Given the description of an element on the screen output the (x, y) to click on. 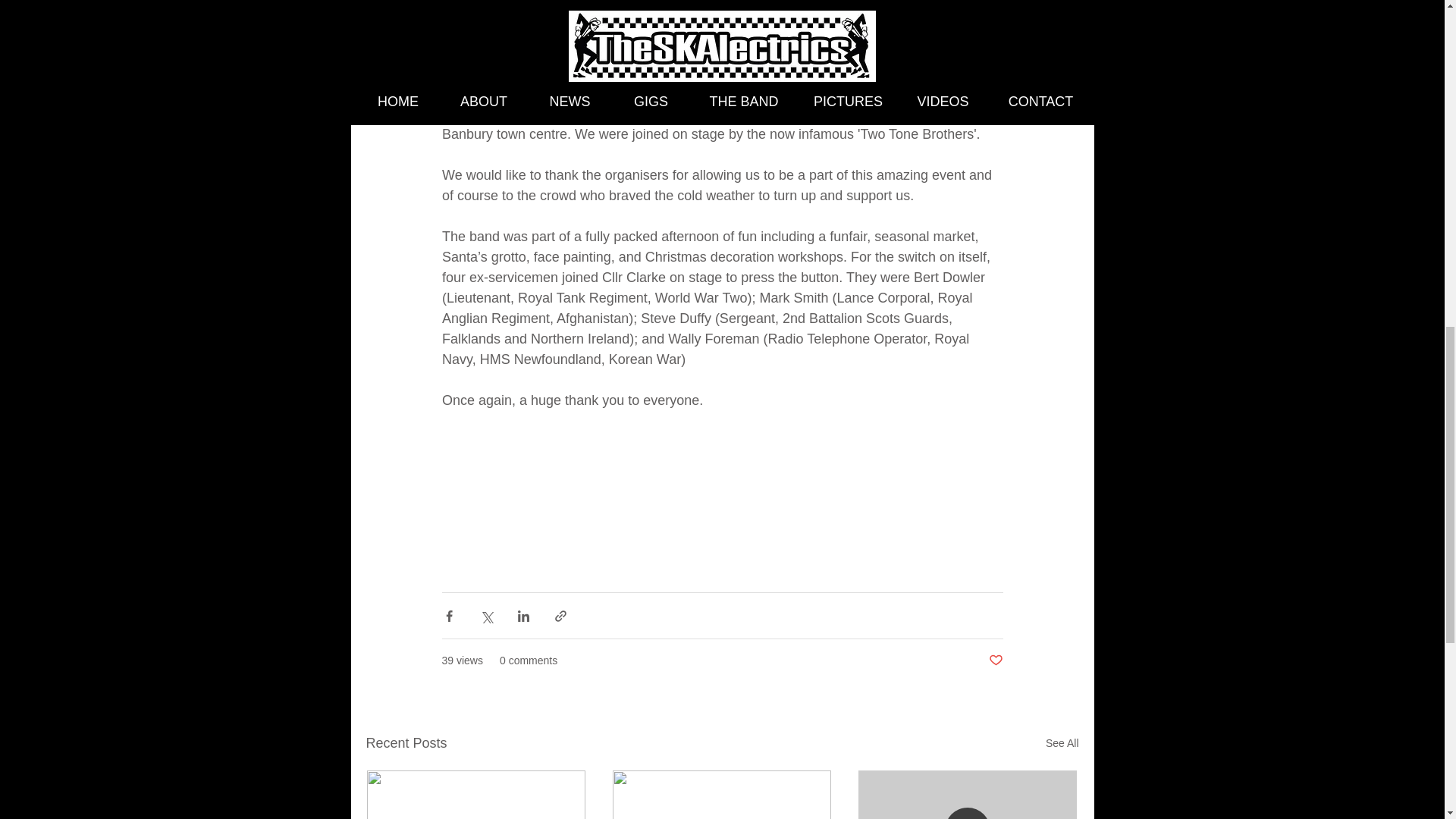
Post not marked as liked (995, 660)
See All (1061, 743)
